Given the description of an element on the screen output the (x, y) to click on. 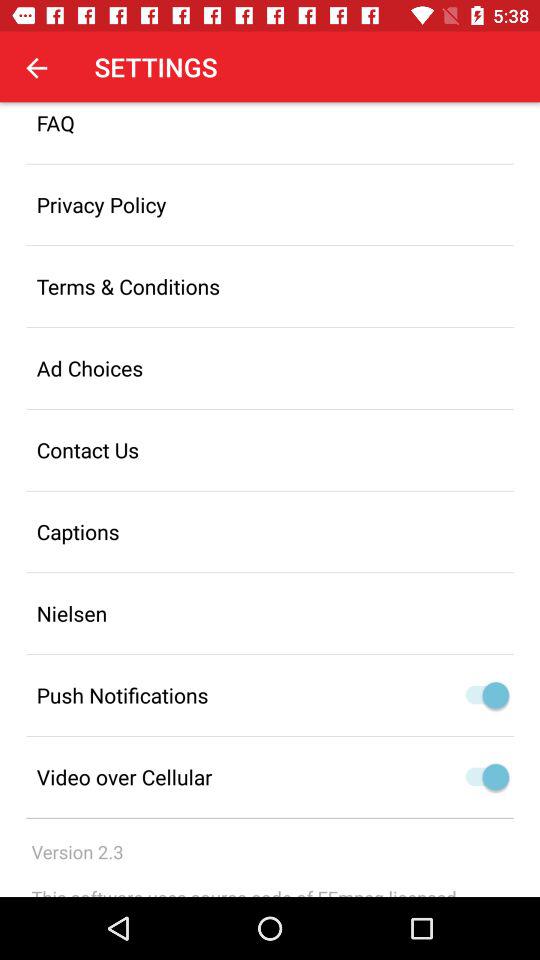
flip to the faq item (270, 132)
